Given the description of an element on the screen output the (x, y) to click on. 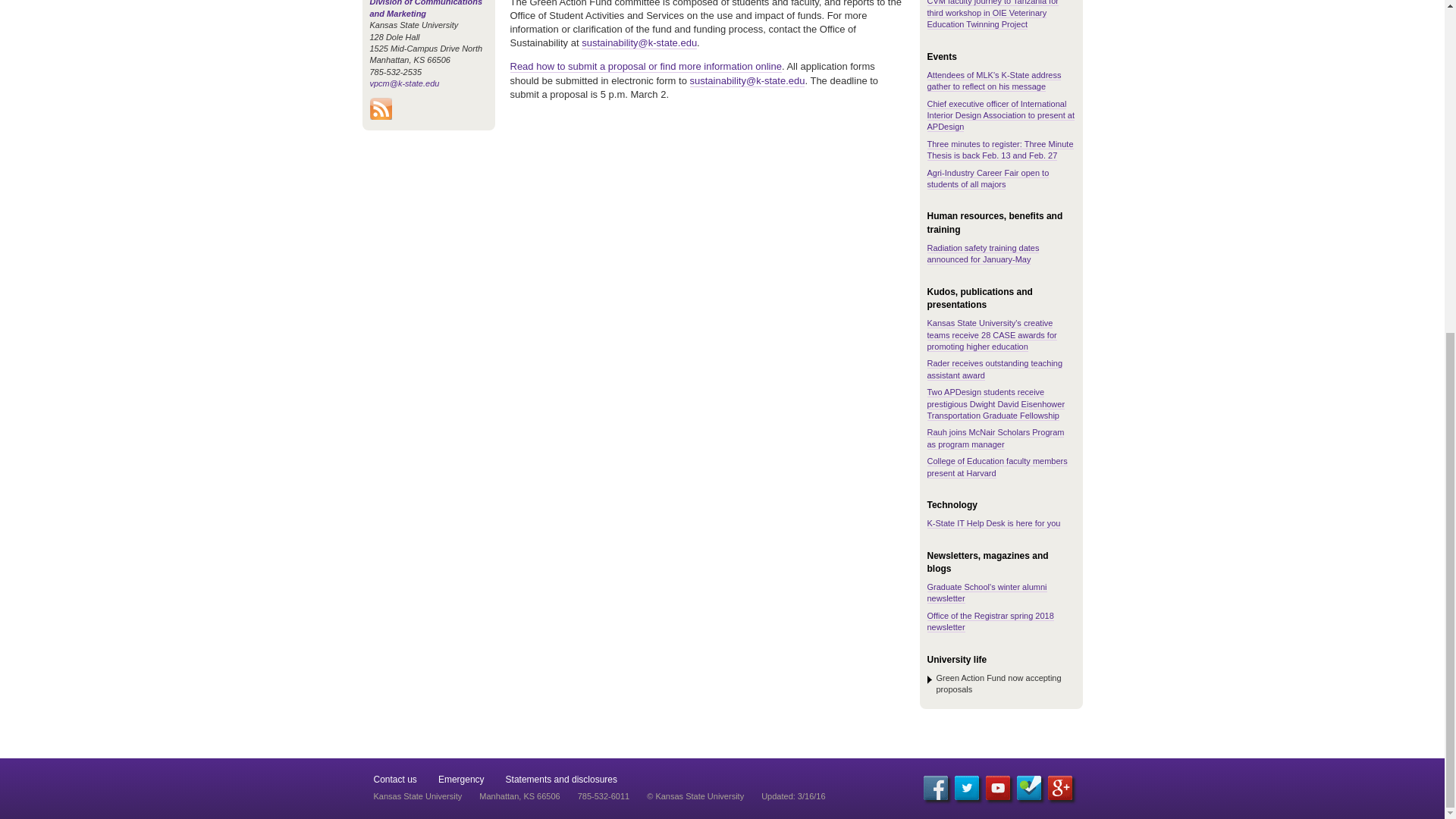
Subscribe to K-State Today RSS feeds (380, 115)
Division of Communications and Marketing (426, 8)
